Given the description of an element on the screen output the (x, y) to click on. 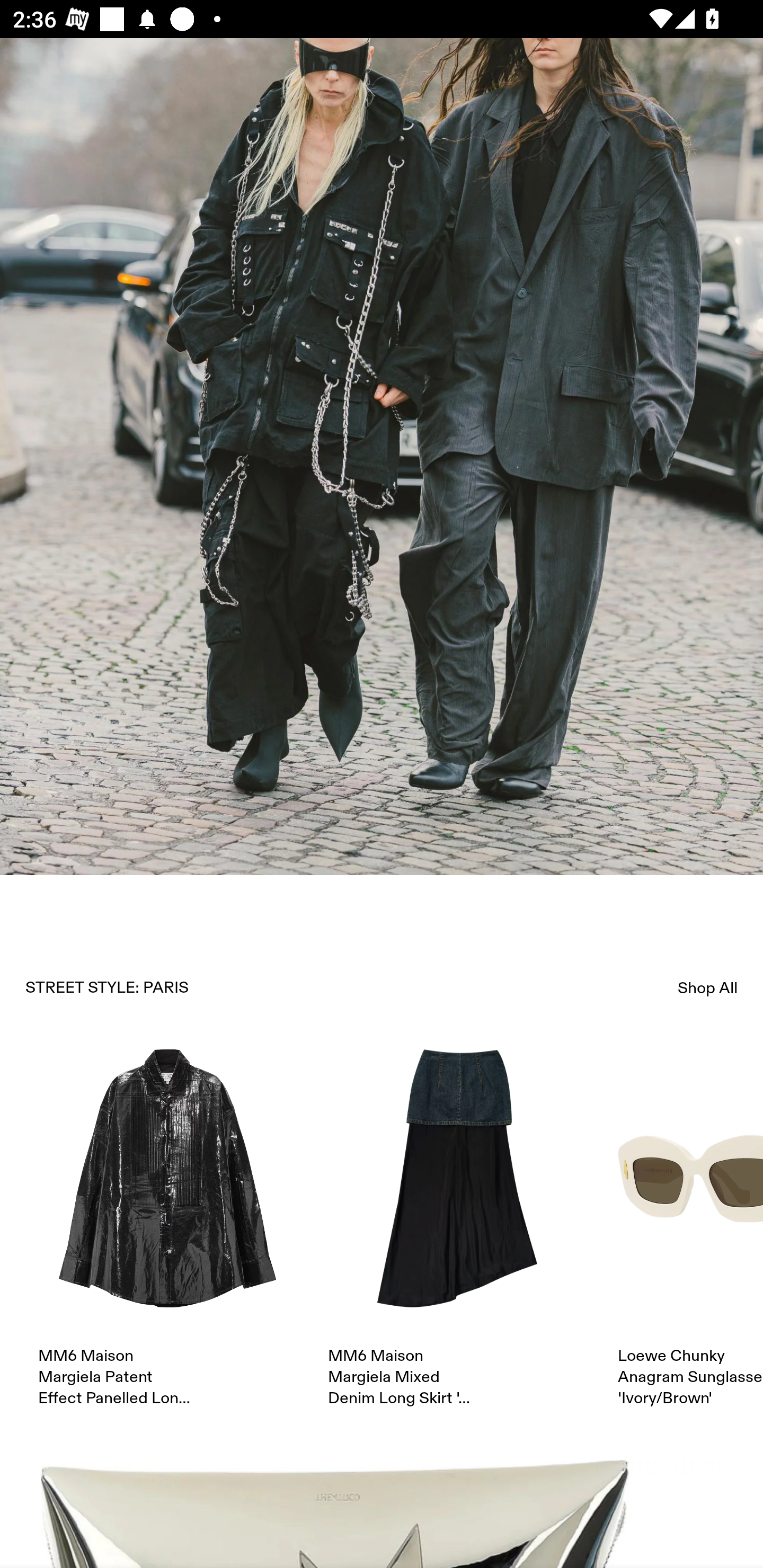
Shop All (707, 987)
MM6 Maison Margiela Mixed Denim Long Skirt 'Blue' (456, 1228)
Loewe Chunky Anagram Sunglasses 'Ivory/Brown' (690, 1228)
